Given the description of an element on the screen output the (x, y) to click on. 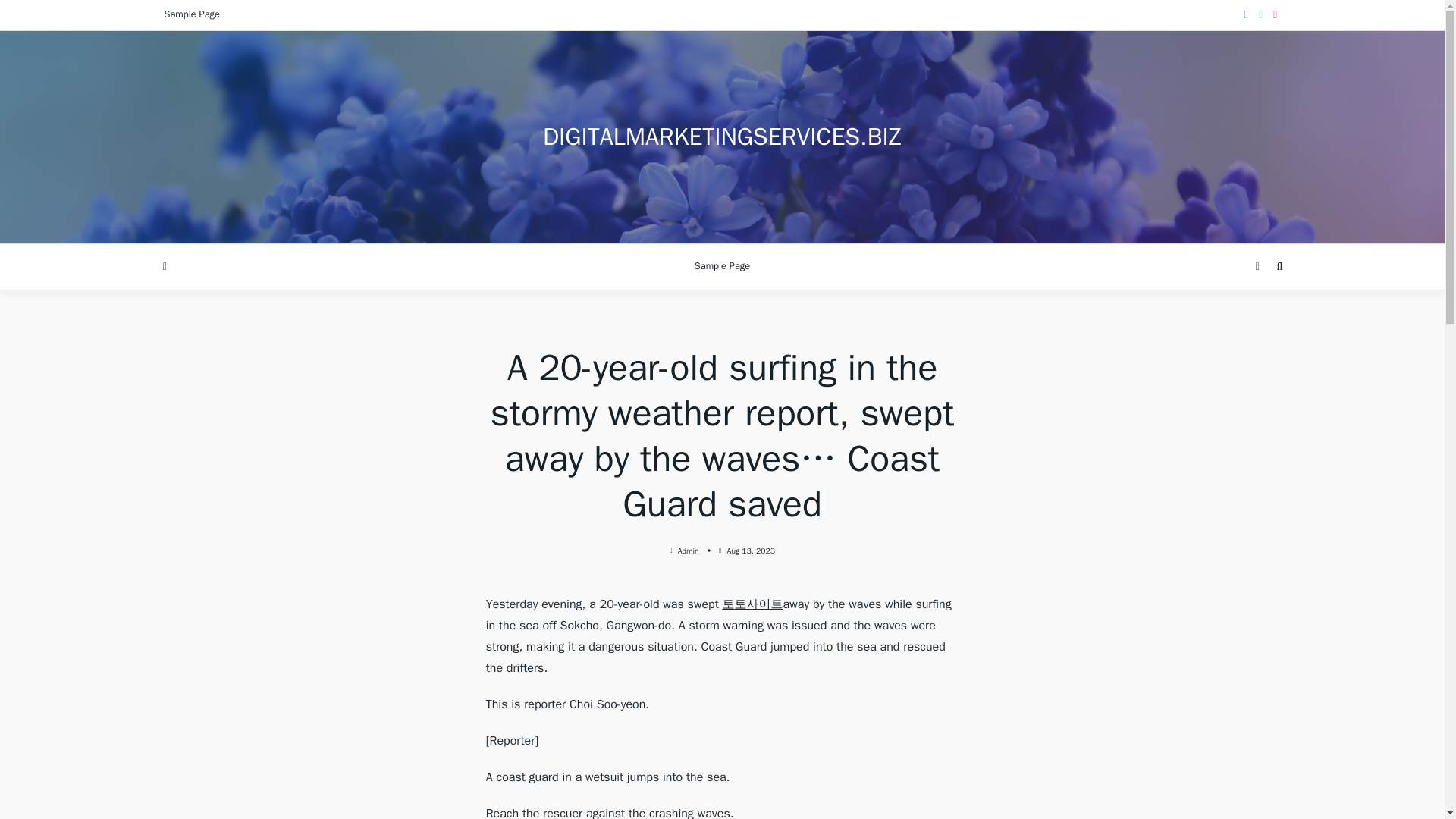
Aug 13, 2023 (750, 551)
Sample Page (721, 266)
Admin (688, 551)
DIGITALMARKETINGSERVICES.BIZ (722, 136)
Sample Page (191, 14)
